Given the description of an element on the screen output the (x, y) to click on. 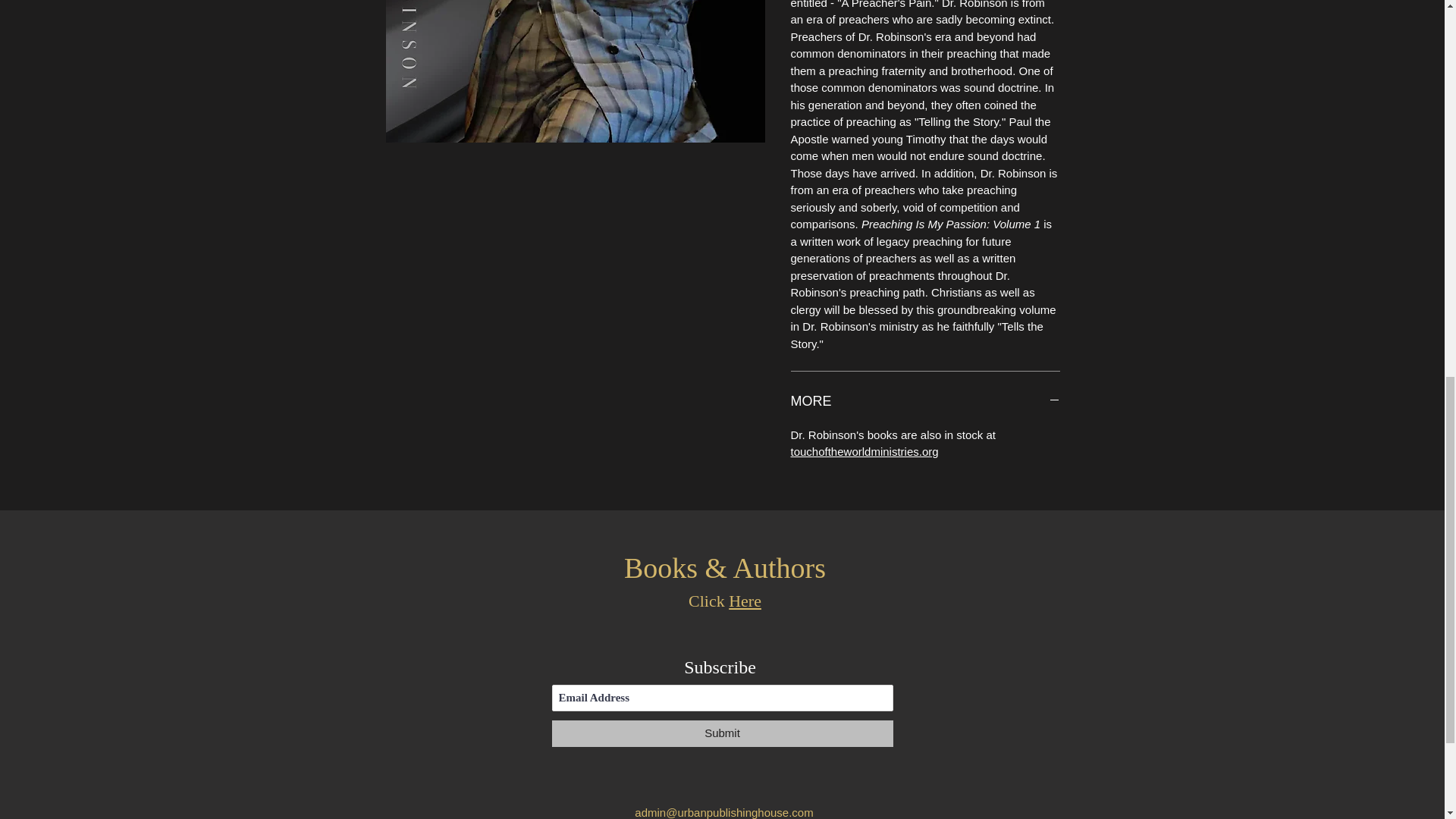
Submit (722, 733)
touchoftheworldministries.org (863, 451)
MORE (924, 401)
Here (745, 600)
